Given the description of an element on the screen output the (x, y) to click on. 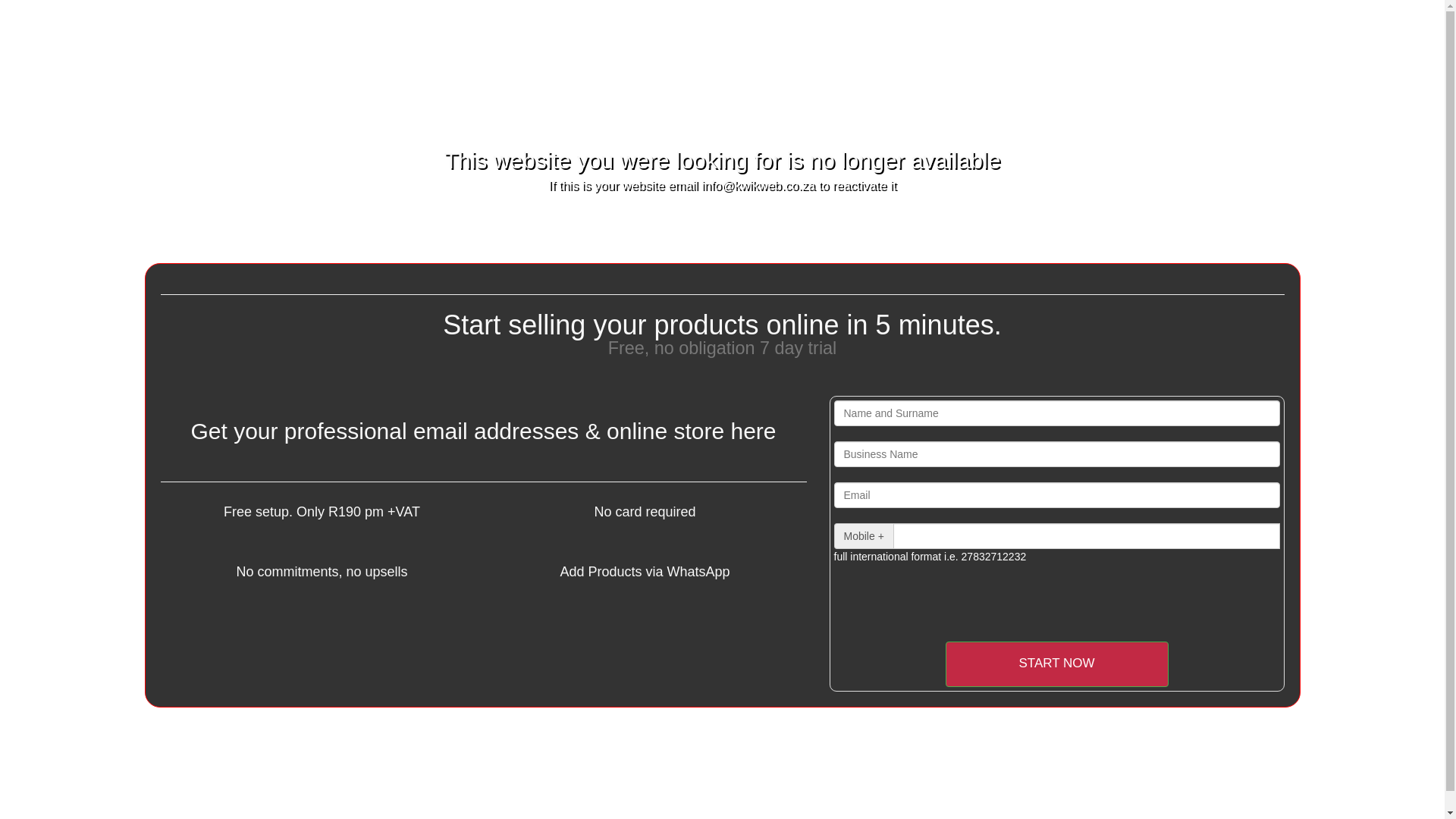
START NOW Element type: text (1055, 664)
